Given the description of an element on the screen output the (x, y) to click on. 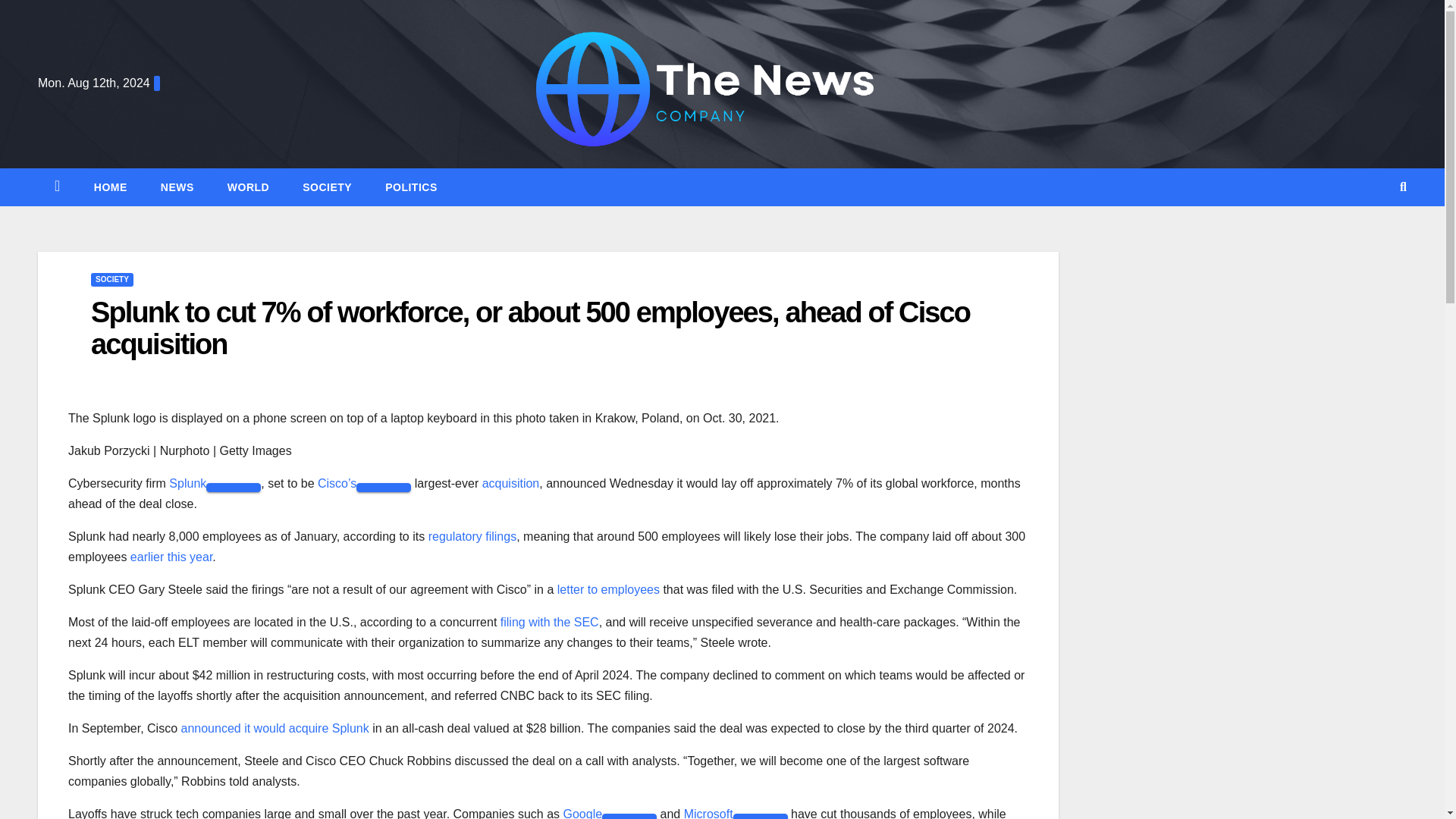
Society (326, 187)
Splunk (187, 482)
Politics (411, 187)
News (177, 187)
NEWS (177, 187)
WORLD (248, 187)
Microsoft (708, 813)
letter to employees (608, 589)
Home (110, 187)
World (248, 187)
